Given the description of an element on the screen output the (x, y) to click on. 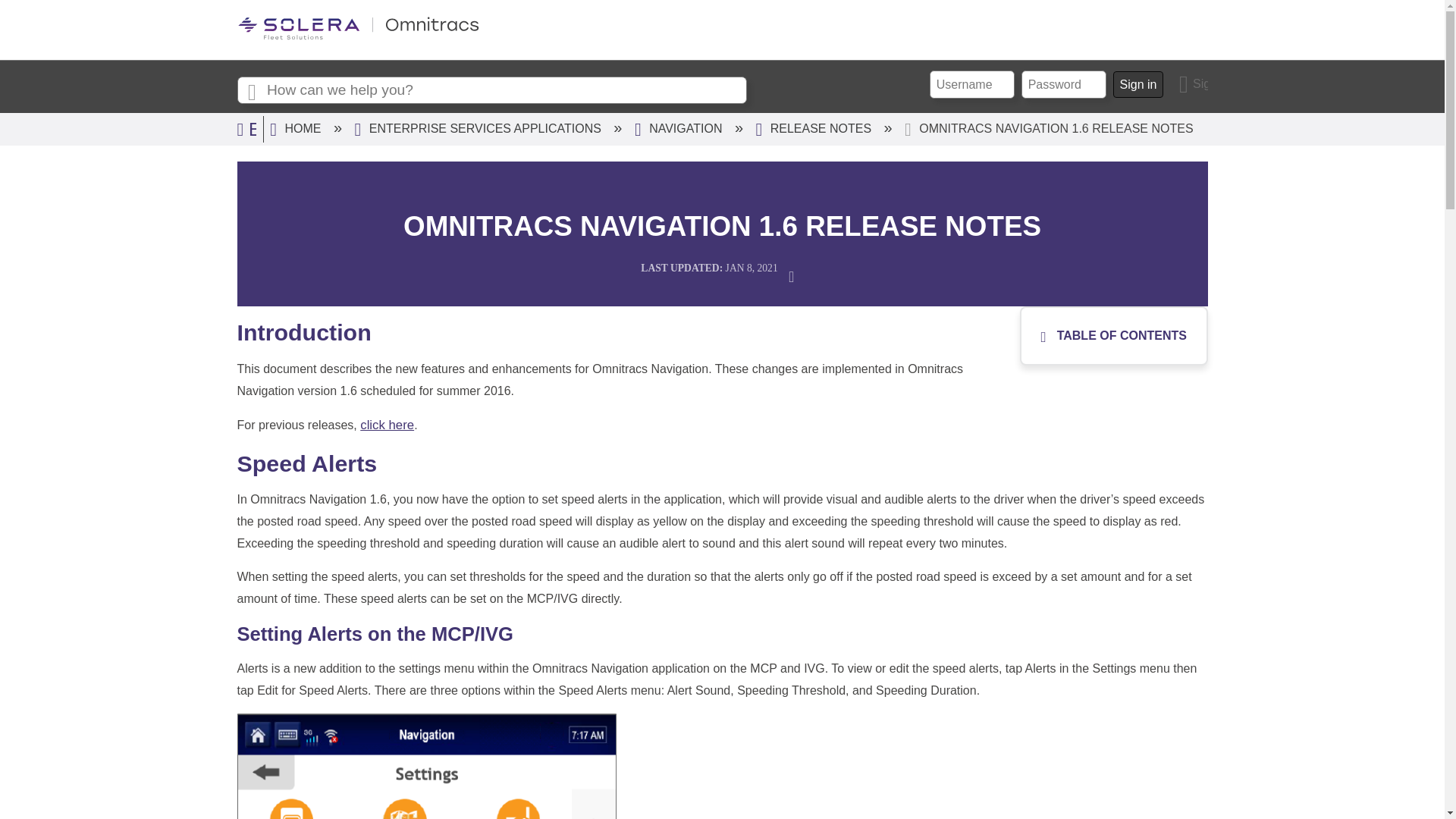
Search (250, 90)
click here (386, 424)
Omnitracs Knowledge Base (357, 36)
Sign in (1193, 84)
TABLE OF CONTENTS (1110, 335)
Sign in (1138, 84)
RELEASE NOTES (815, 128)
SAVE AS PDF (796, 275)
ENTERPRISE SERVICES APPLICATIONS (480, 128)
Sign in (1193, 84)
